Given the description of an element on the screen output the (x, y) to click on. 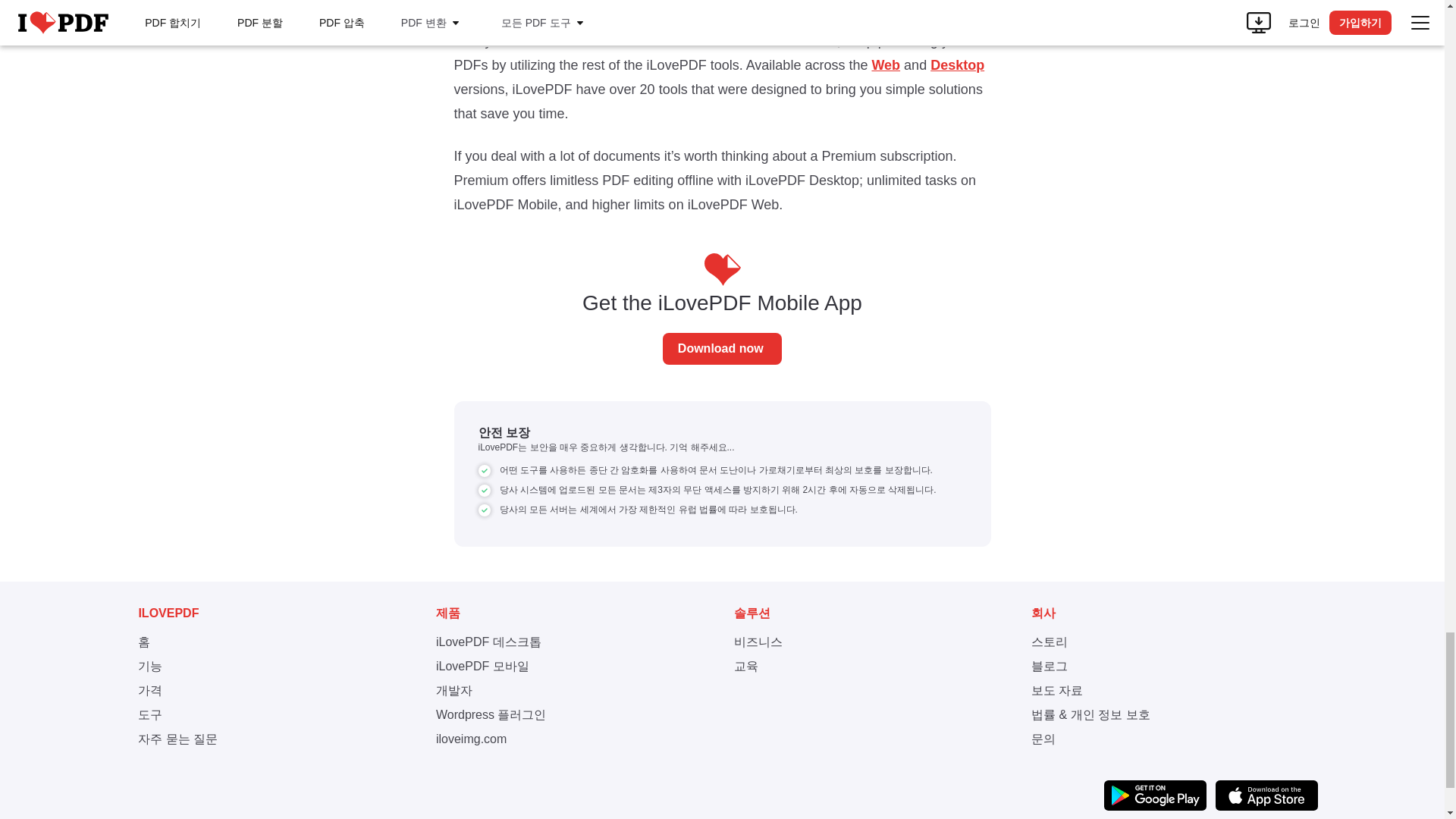
iLovePDF Web  (884, 64)
iLovePDF Desktop  (957, 64)
iLovePDF Mobile App (721, 348)
